Given the description of an element on the screen output the (x, y) to click on. 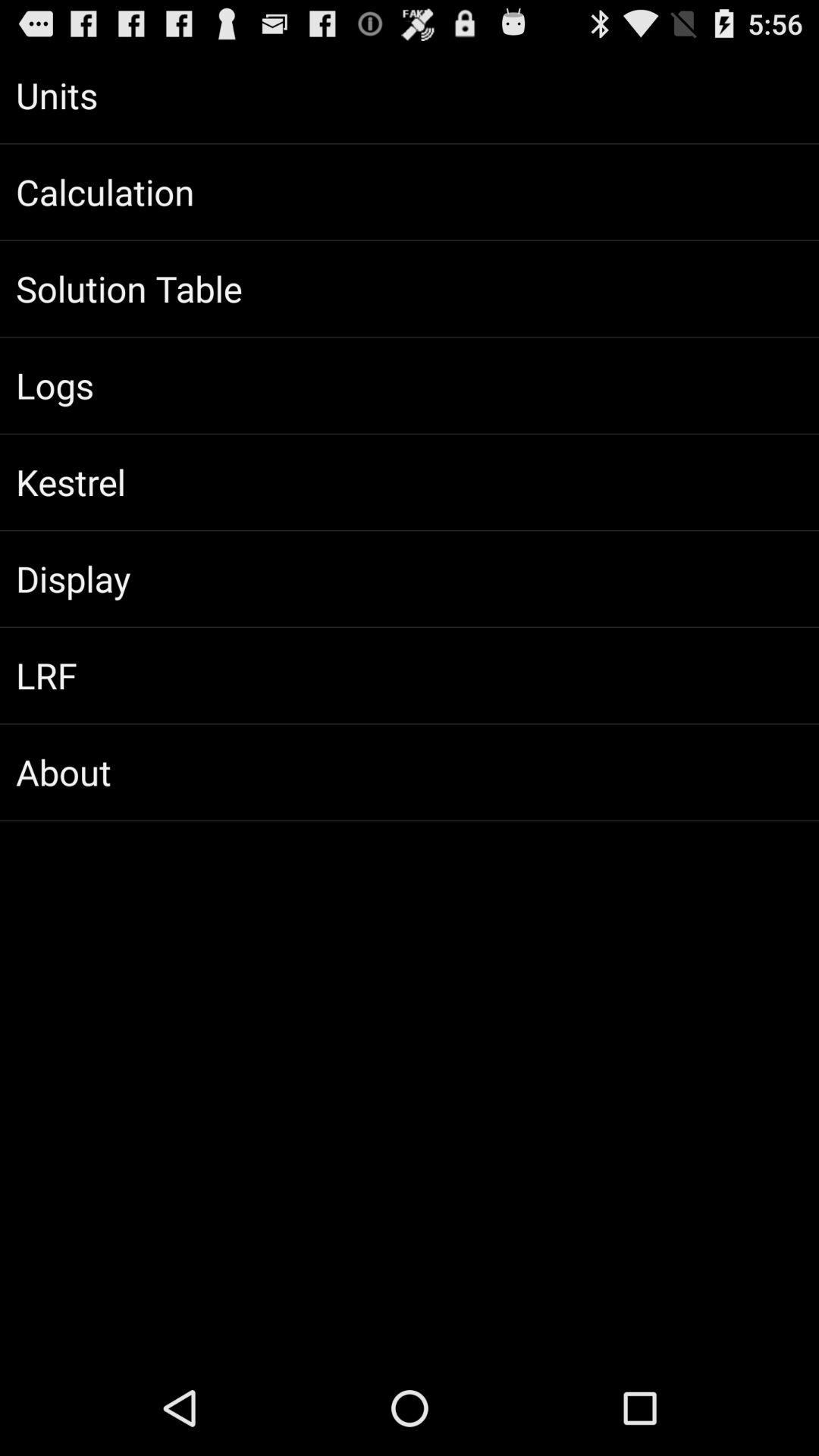
select app above the solution table item (409, 192)
